Given the description of an element on the screen output the (x, y) to click on. 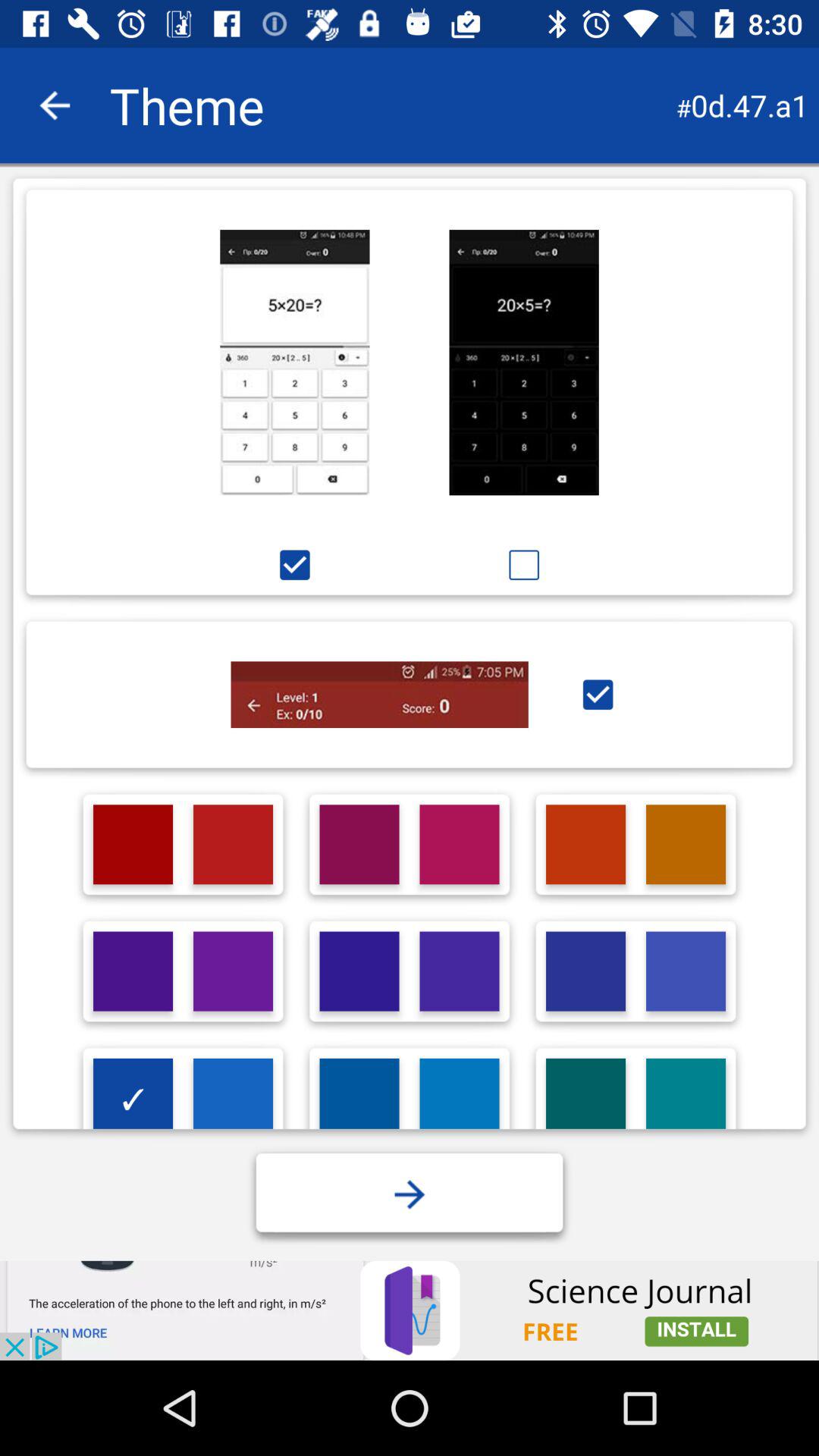
toggle the theme (294, 362)
